Given the description of an element on the screen output the (x, y) to click on. 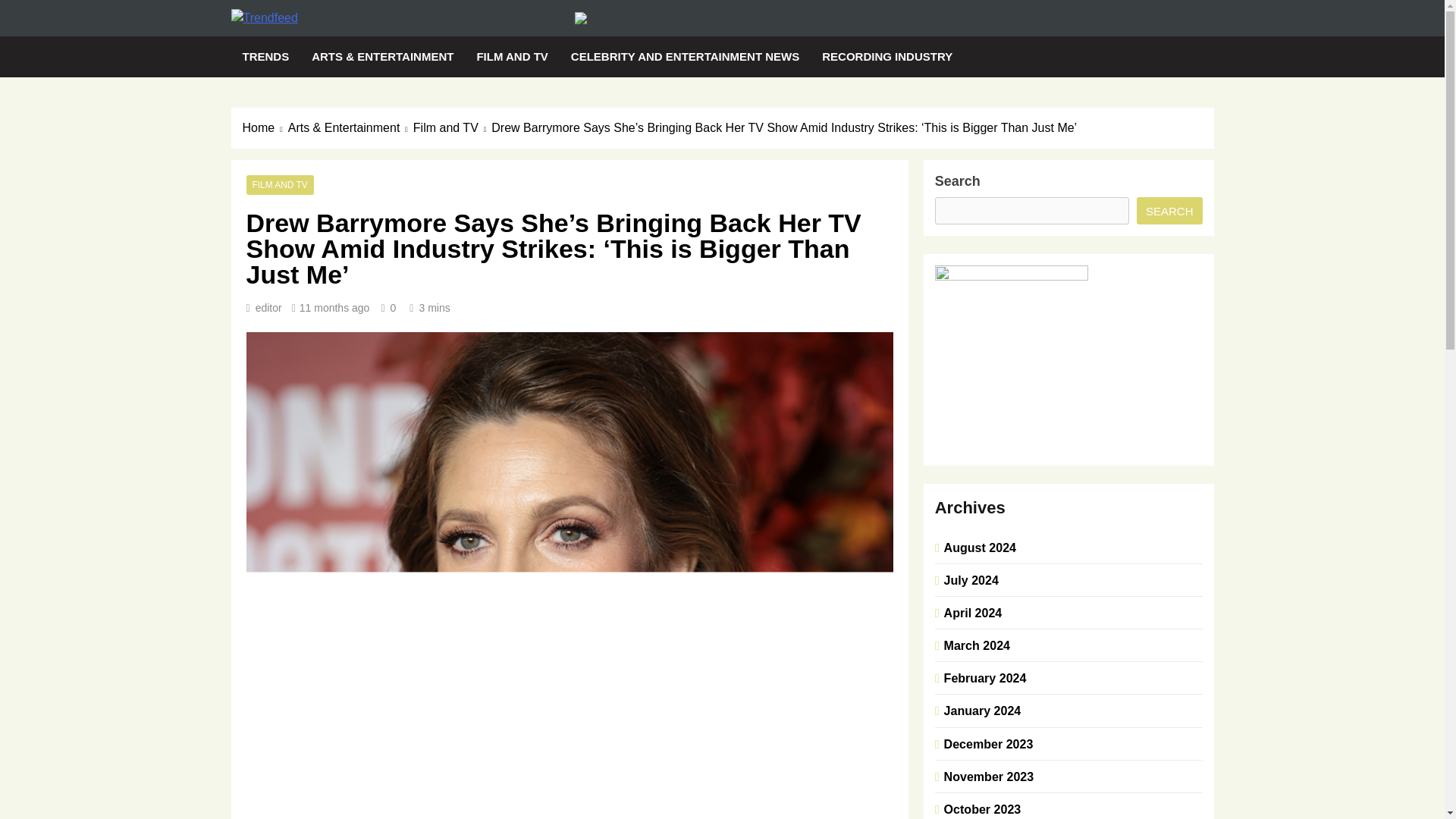
TRENDFEED (333, 44)
Home (265, 127)
11 months ago (334, 307)
CELEBRITY AND ENTERTAINMENT NEWS (684, 56)
TRENDS (264, 56)
editor (269, 307)
Film and TV (452, 127)
FILM AND TV (279, 184)
RECORDING INDUSTRY (886, 56)
FILM AND TV (511, 56)
